Given the description of an element on the screen output the (x, y) to click on. 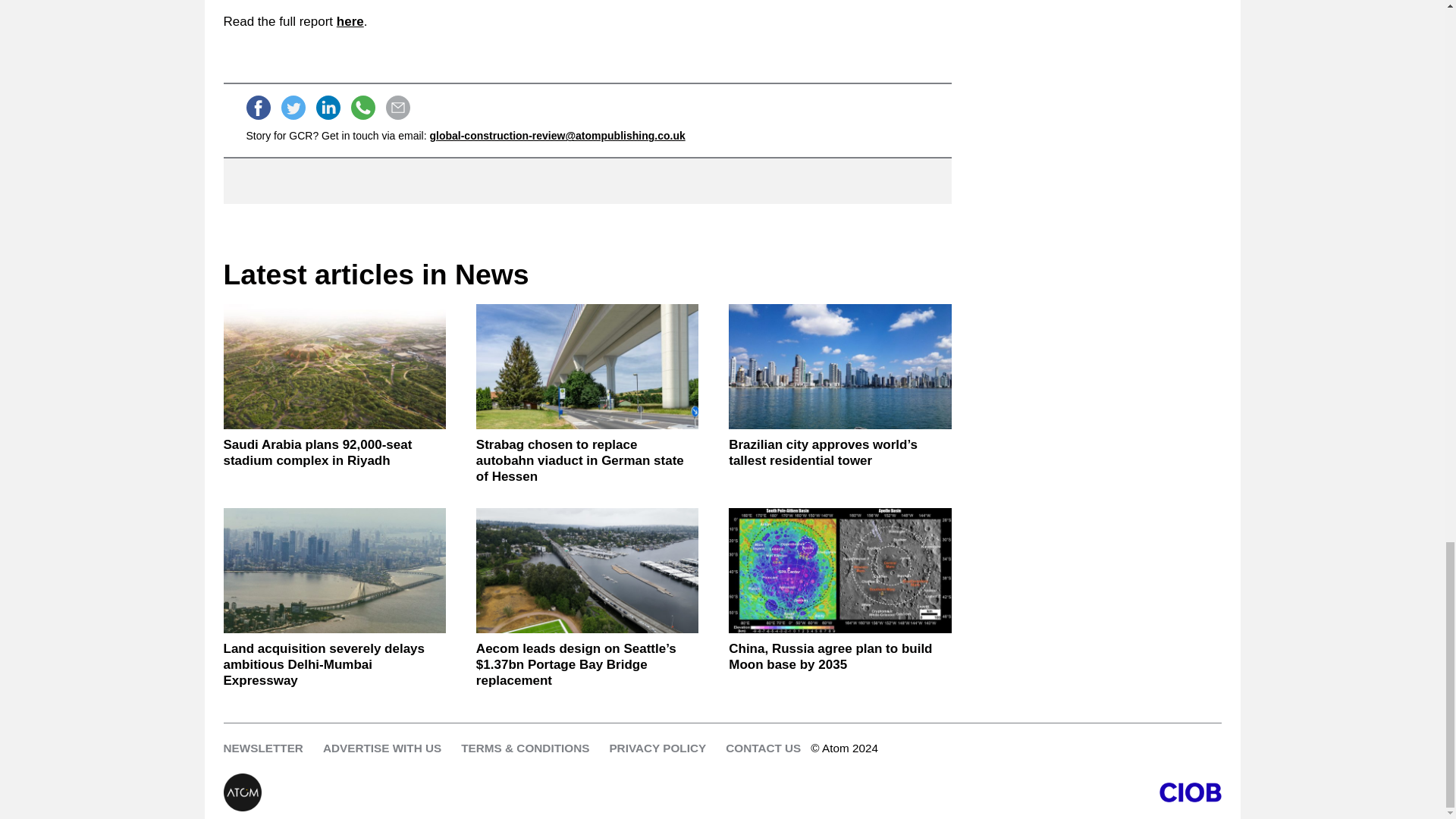
Saudi Arabia plans 92,000-seat stadium complex in Riyadh (333, 452)
Share on Facebook (257, 107)
Send email (397, 107)
Tweet (292, 107)
Saudi Arabia plans 92,000-seat stadium complex in Riyadh (333, 366)
Share on WhatsApp (362, 107)
Share on LinkedIn (327, 107)
